Given the description of an element on the screen output the (x, y) to click on. 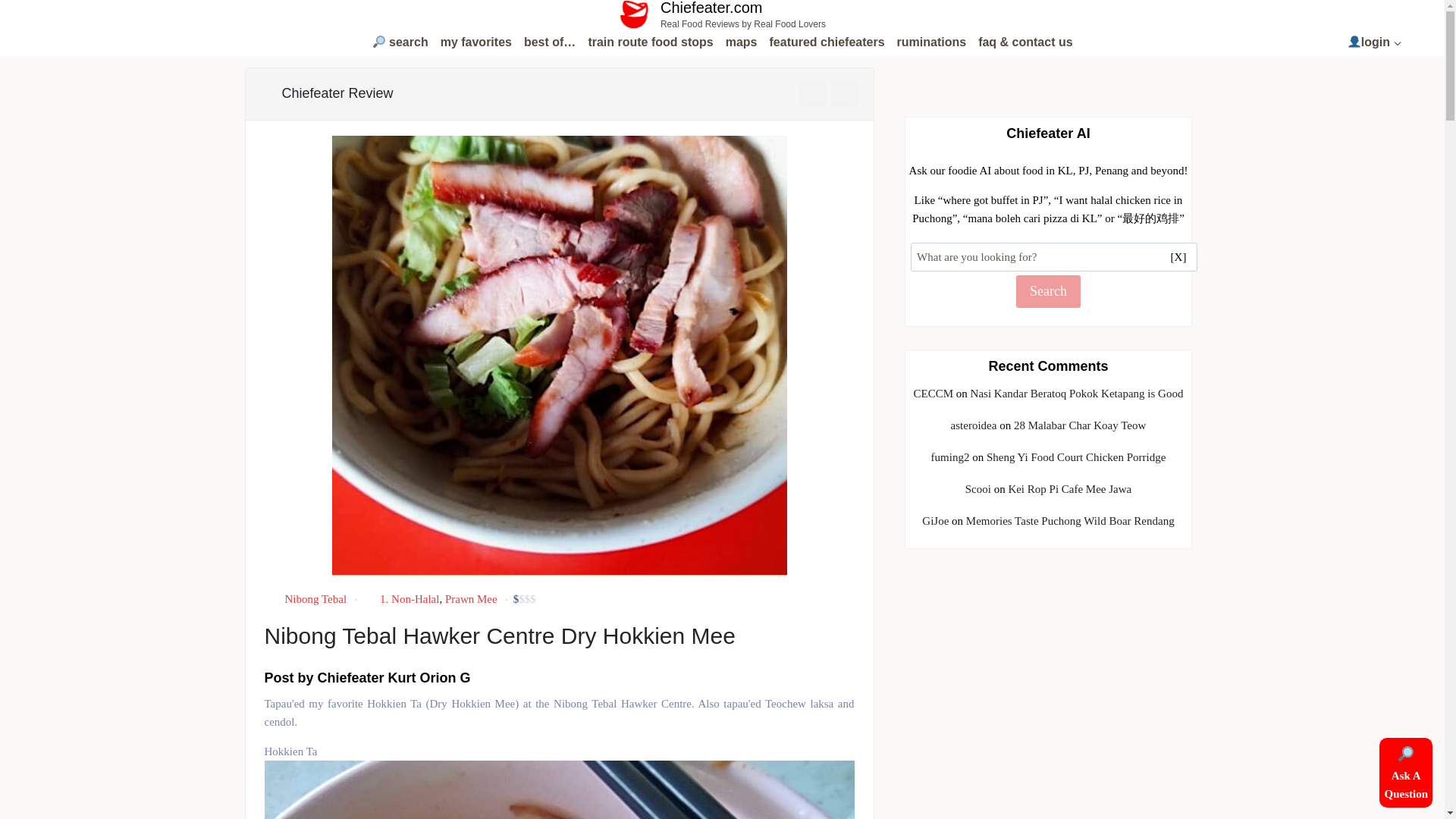
featured chiefeaters (825, 42)
ruminations (931, 42)
search (399, 42)
my favorites (475, 42)
Prawn Mee (471, 598)
1. Non-Halal (409, 598)
maps (740, 42)
train route food stops (721, 14)
login (649, 42)
Nibong Tebal (1374, 42)
